Given the description of an element on the screen output the (x, y) to click on. 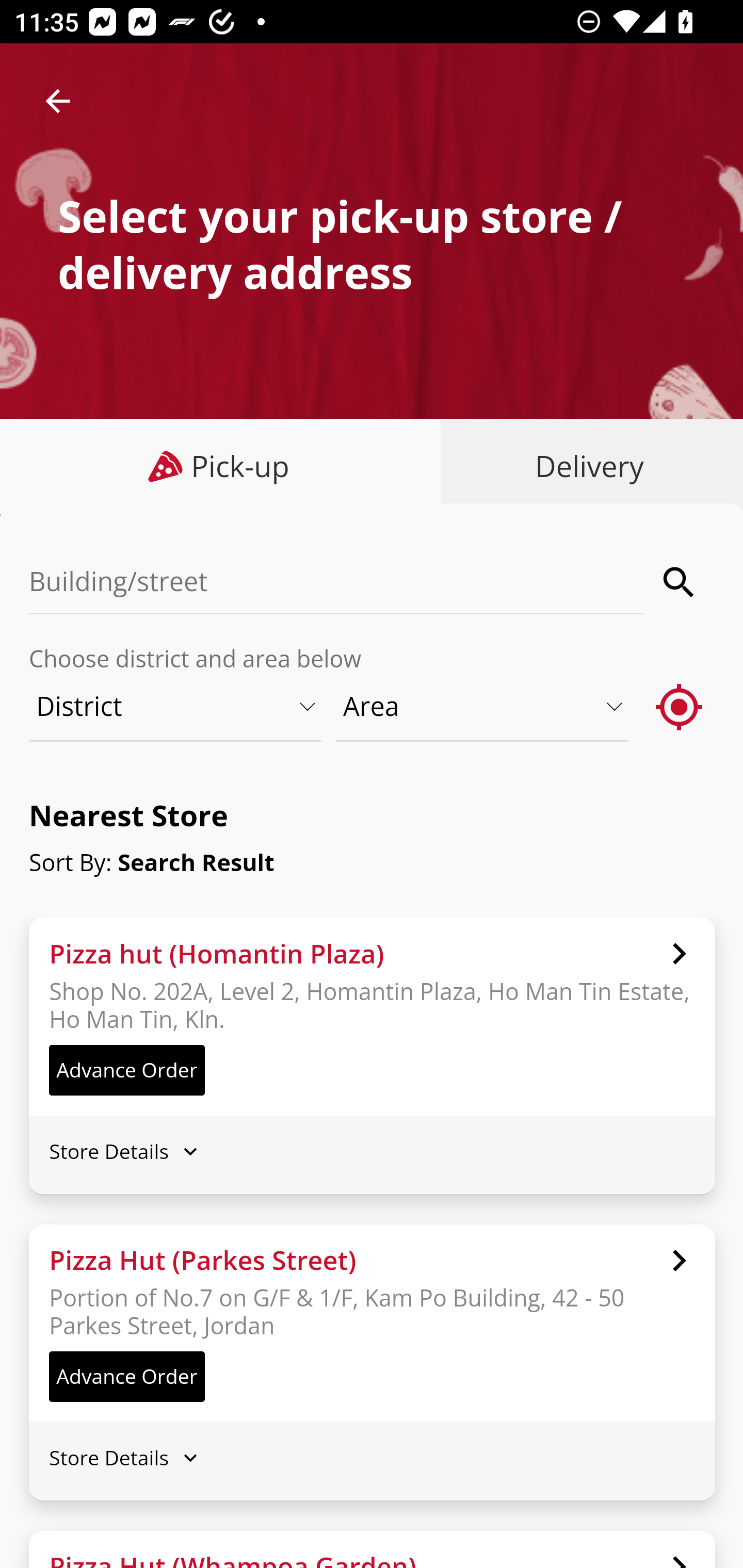
arrow_back (58, 100)
Pick-up (221, 466)
Delivery (585, 466)
search (679, 582)
gps_fixed (679, 706)
District (175, 706)
Area (482, 706)
Store Details (371, 1149)
Store Details (371, 1457)
